Given the description of an element on the screen output the (x, y) to click on. 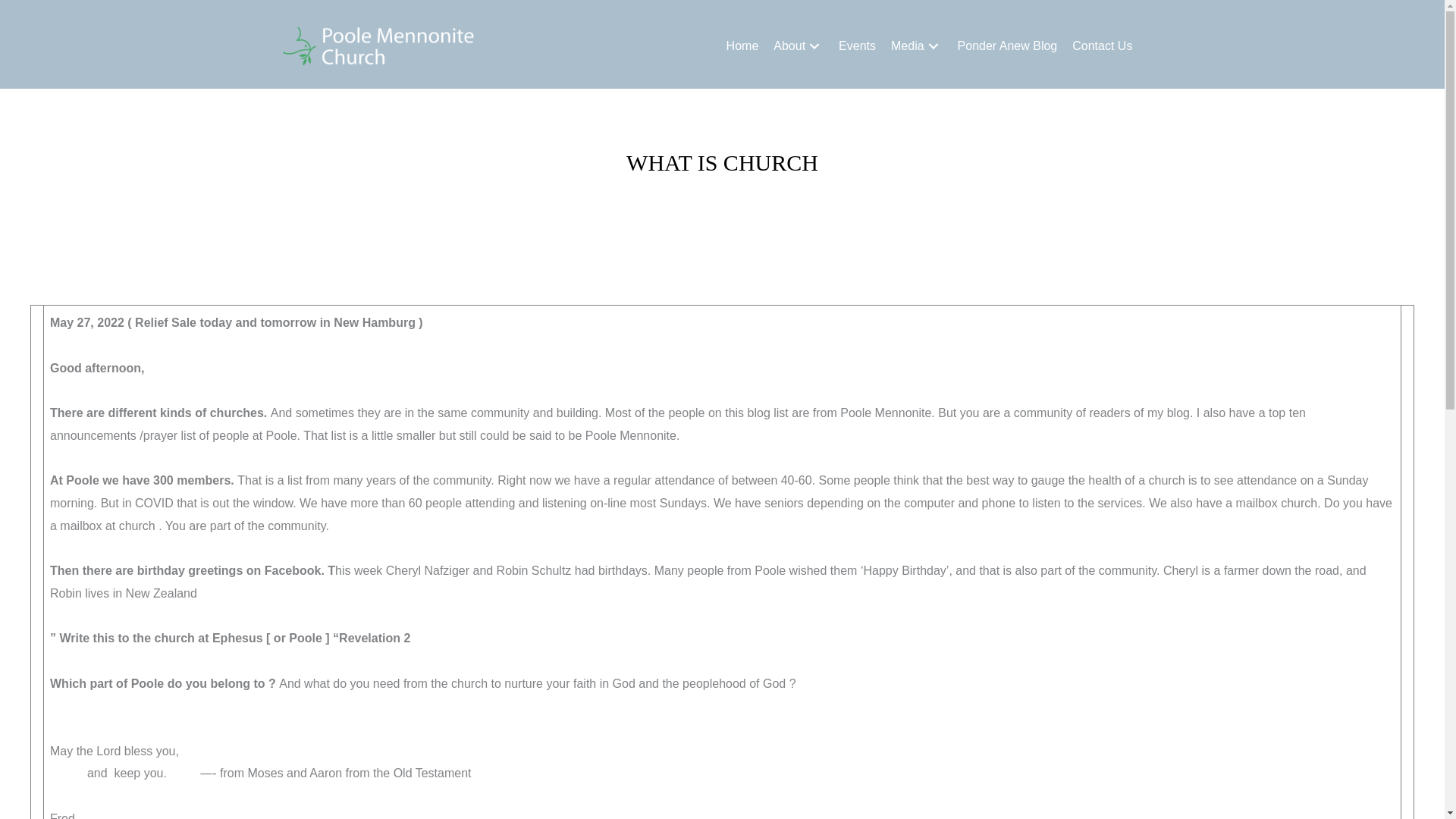
PooleLogo2 (378, 46)
Media (916, 46)
Home (743, 46)
Fred Redekop (719, 202)
Events (857, 46)
Ponder Anew Blog (1007, 46)
Contact Us (1102, 46)
No Comments (811, 202)
About (798, 46)
